Given the description of an element on the screen output the (x, y) to click on. 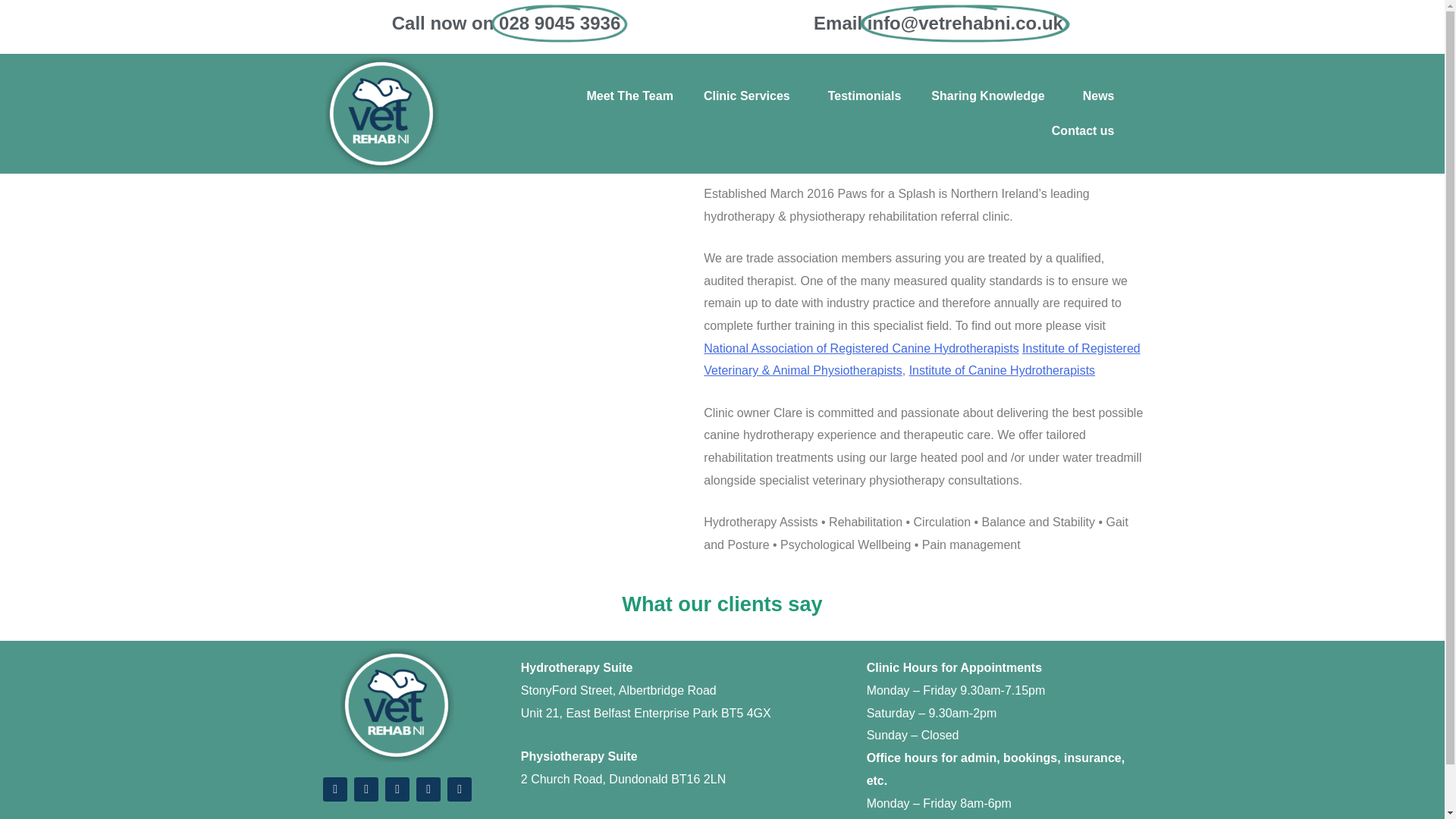
Clinic Services (750, 6)
Contact us (1082, 117)
News (1098, 80)
Testimonials (864, 55)
Sharing Knowledge (991, 58)
Meet The Team (628, 4)
